Given the description of an element on the screen output the (x, y) to click on. 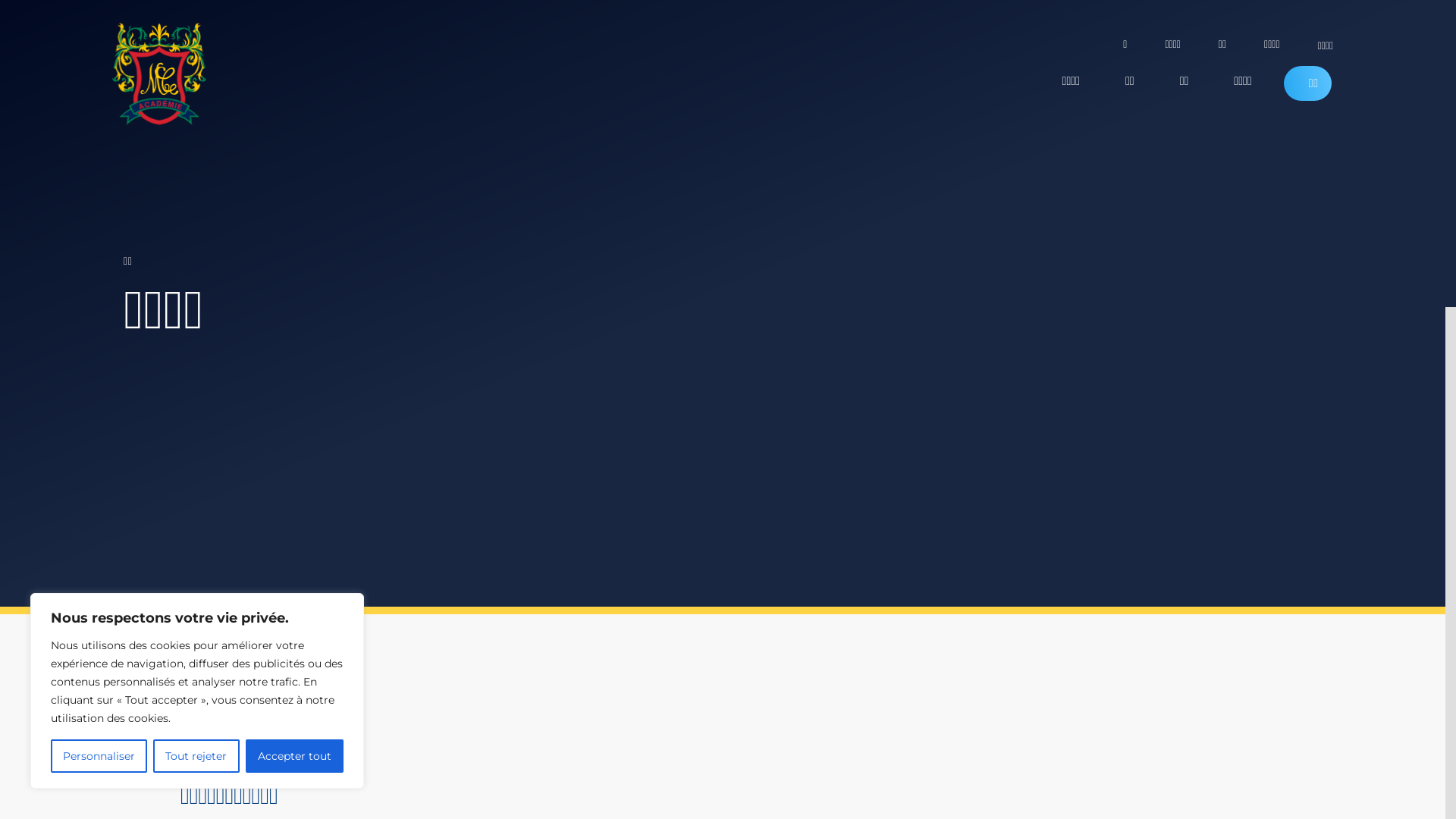
Accepter tout Element type: text (294, 755)
Tout rejeter Element type: text (195, 755)
Personnaliser Element type: text (98, 755)
